Given the description of an element on the screen output the (x, y) to click on. 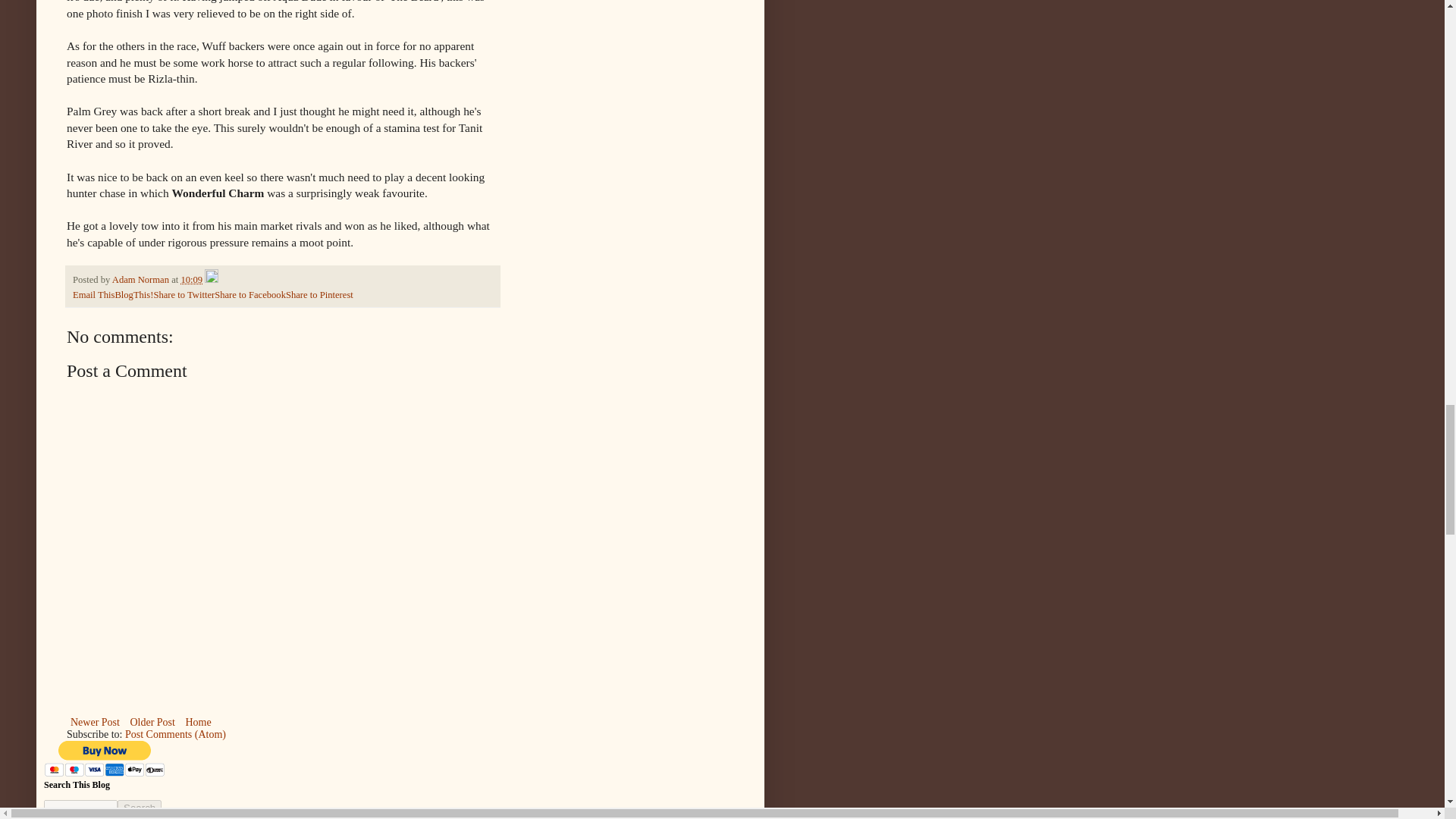
Email This (93, 294)
Share to Facebook (249, 294)
Share to Twitter (183, 294)
Adam Norman (141, 279)
Share to Twitter (183, 294)
BlogThis! (133, 294)
BlogThis! (133, 294)
Email This (93, 294)
Older Post (152, 722)
Search (139, 807)
Search (139, 807)
10:09 (191, 279)
Home (197, 722)
search (139, 807)
Newer Post (94, 722)
